Given the description of an element on the screen output the (x, y) to click on. 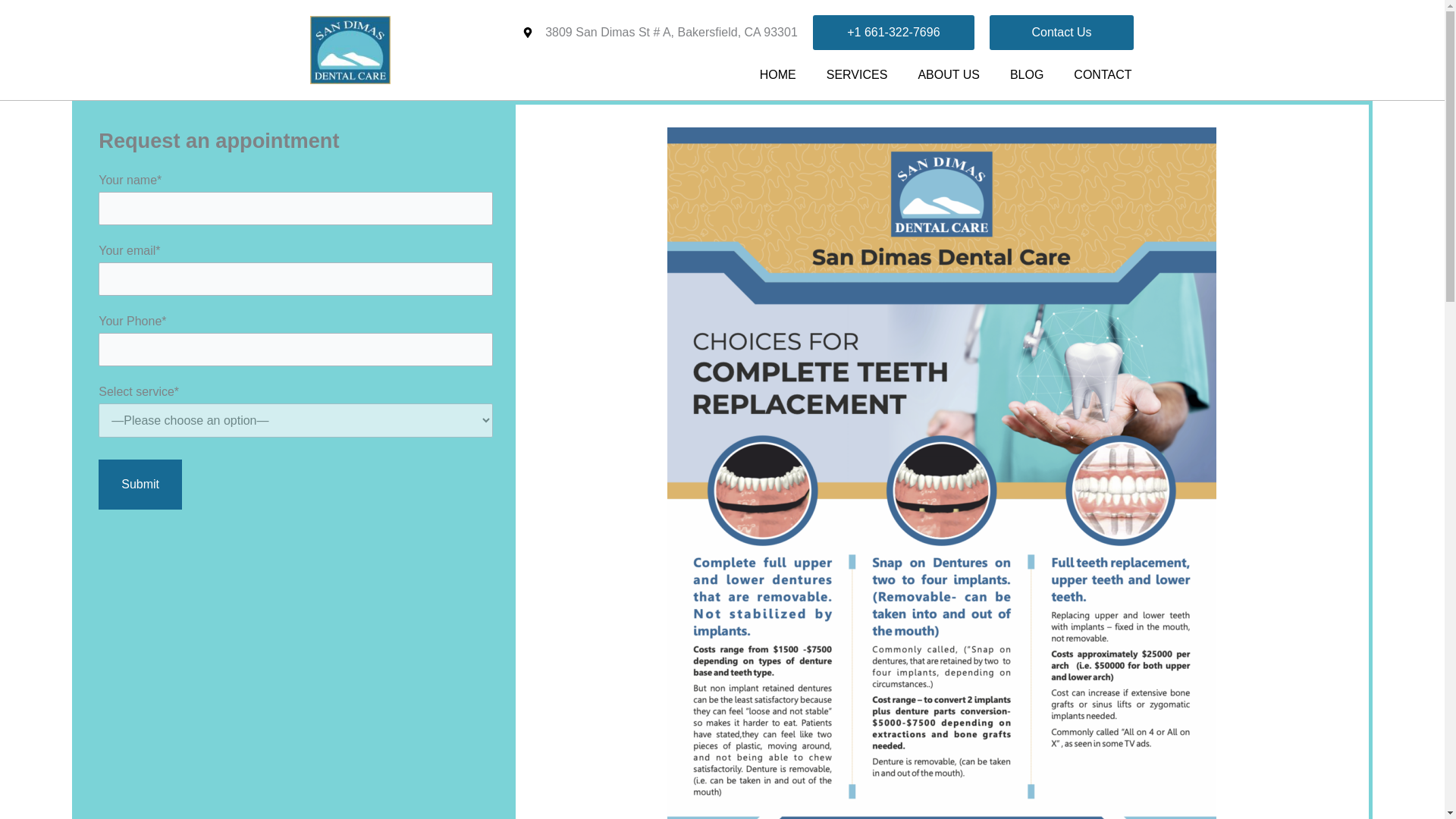
CONTACT (1102, 74)
ABOUT US (948, 74)
BLOG (1026, 74)
SERVICES (856, 74)
Contact Us (1062, 32)
HOME (777, 74)
Submit (140, 484)
Submit (140, 484)
